Given the description of an element on the screen output the (x, y) to click on. 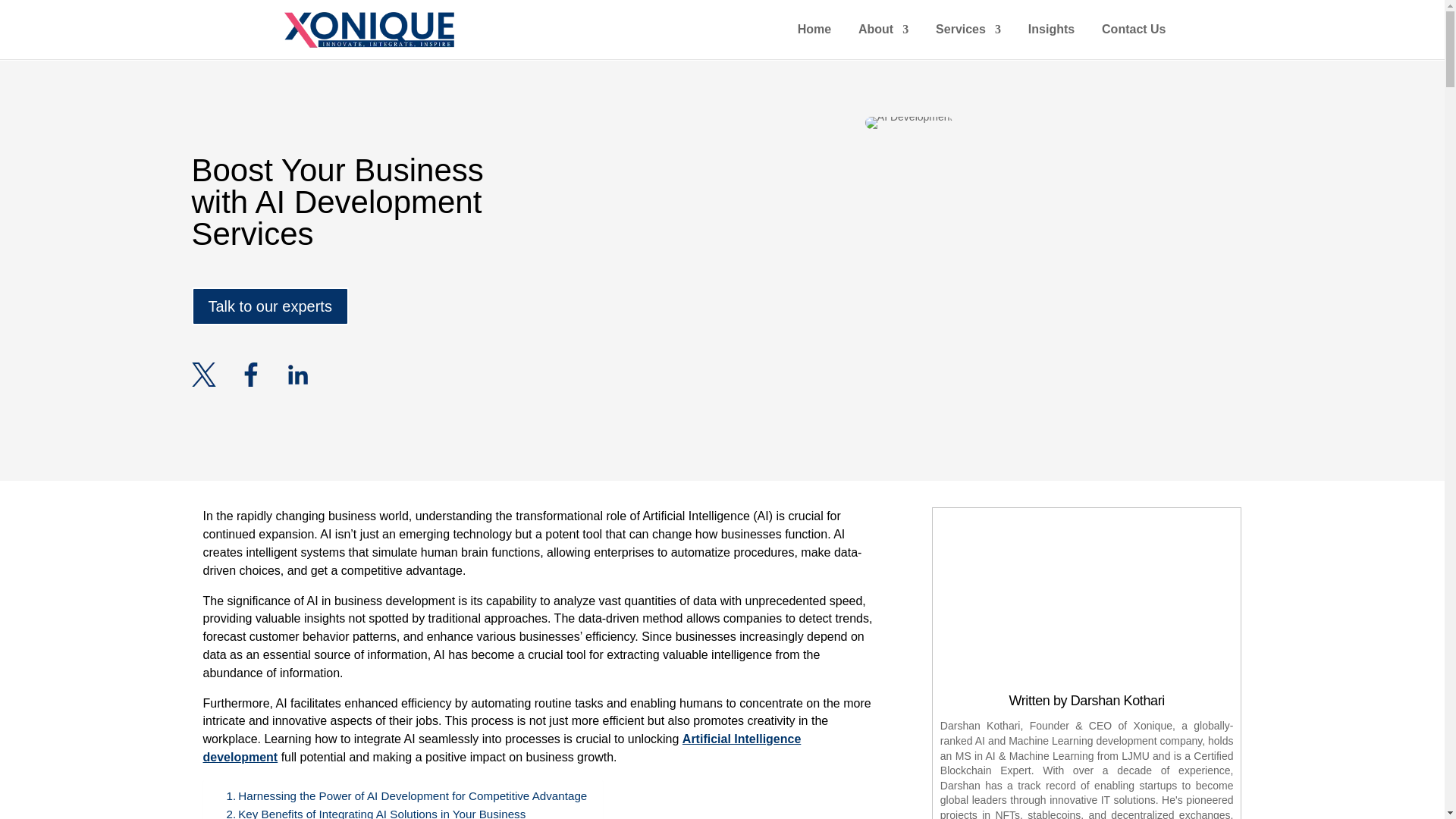
Key Benefits of Integrating AI Solutions in Your Business (375, 812)
facebook-app-symbol (250, 374)
Boost Your Business with AI Development Services (908, 122)
About (883, 41)
Services (968, 41)
Home (814, 41)
